Given the description of an element on the screen output the (x, y) to click on. 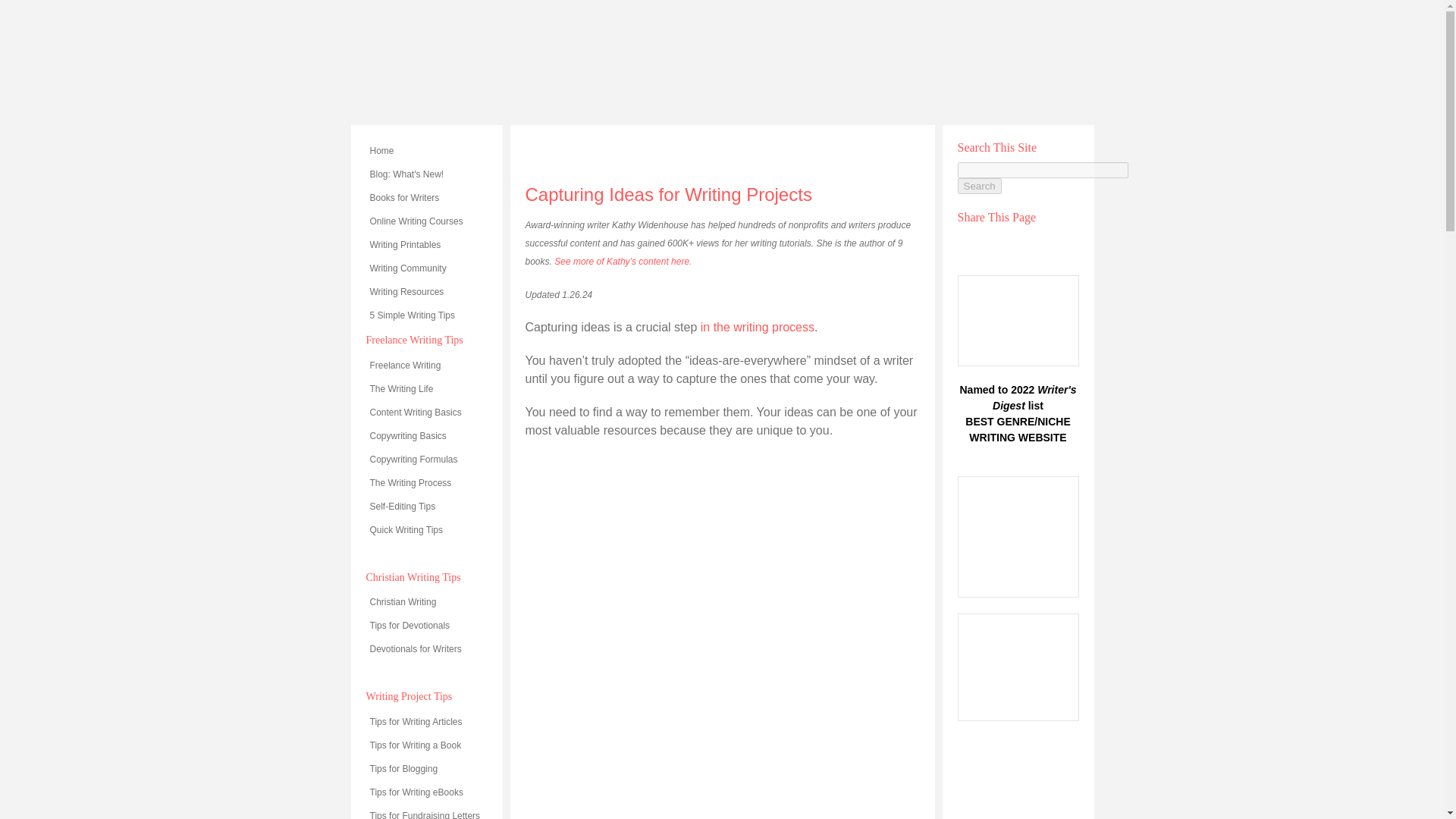
Search (978, 186)
Blog: What's New! (425, 174)
nonprofit-courses-content-expert-logo-round (1017, 778)
writers-digest-logo (1017, 320)
Online Writing Courses (425, 220)
Home (425, 150)
Books for Writers (425, 197)
Writing Printables (425, 244)
in the writing process (755, 327)
